Given the description of an element on the screen output the (x, y) to click on. 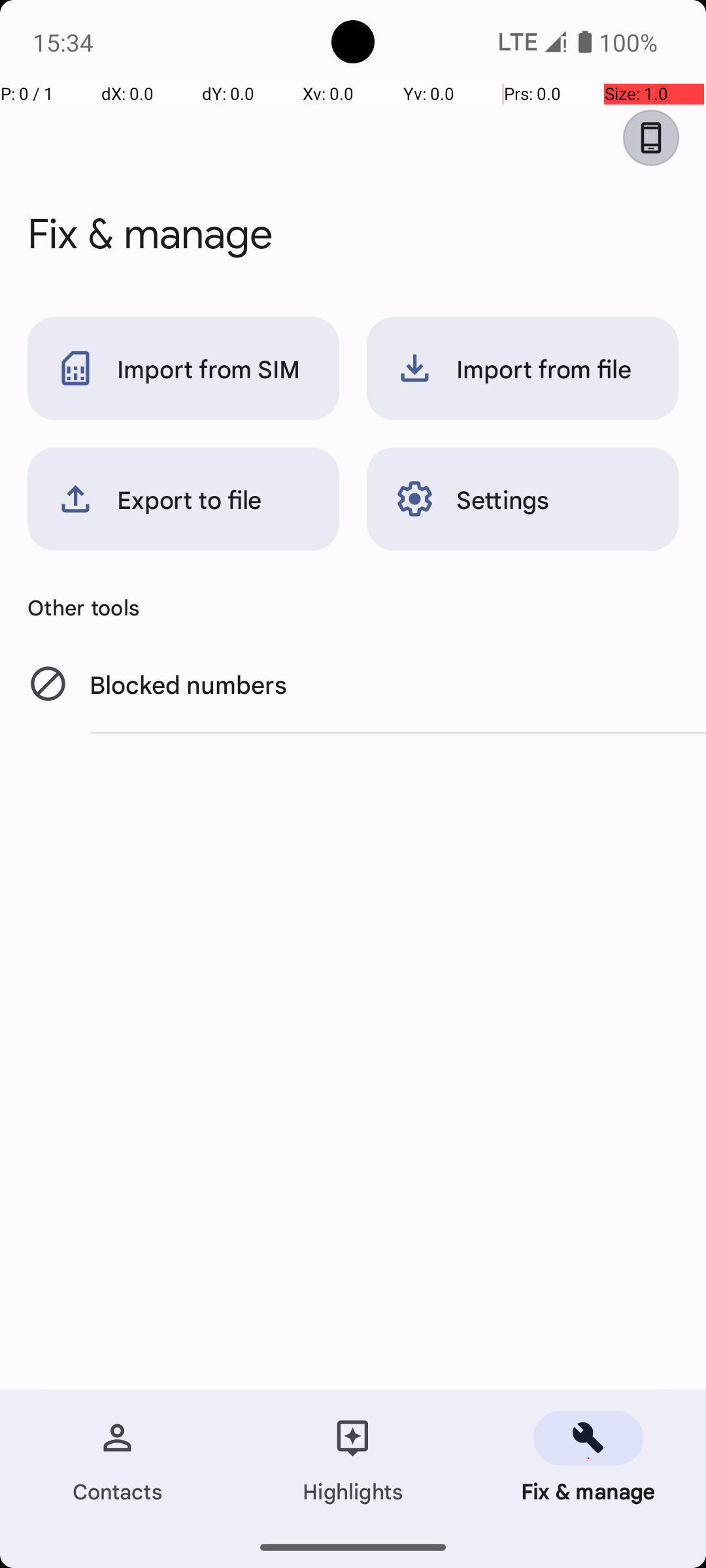
Other tools Element type: android.widget.TextView (353, 606)
Import from SIM Element type: android.widget.TextView (183, 368)
Import from file Element type: android.widget.TextView (522, 368)
Export to file Element type: android.widget.TextView (183, 498)
